Given the description of an element on the screen output the (x, y) to click on. 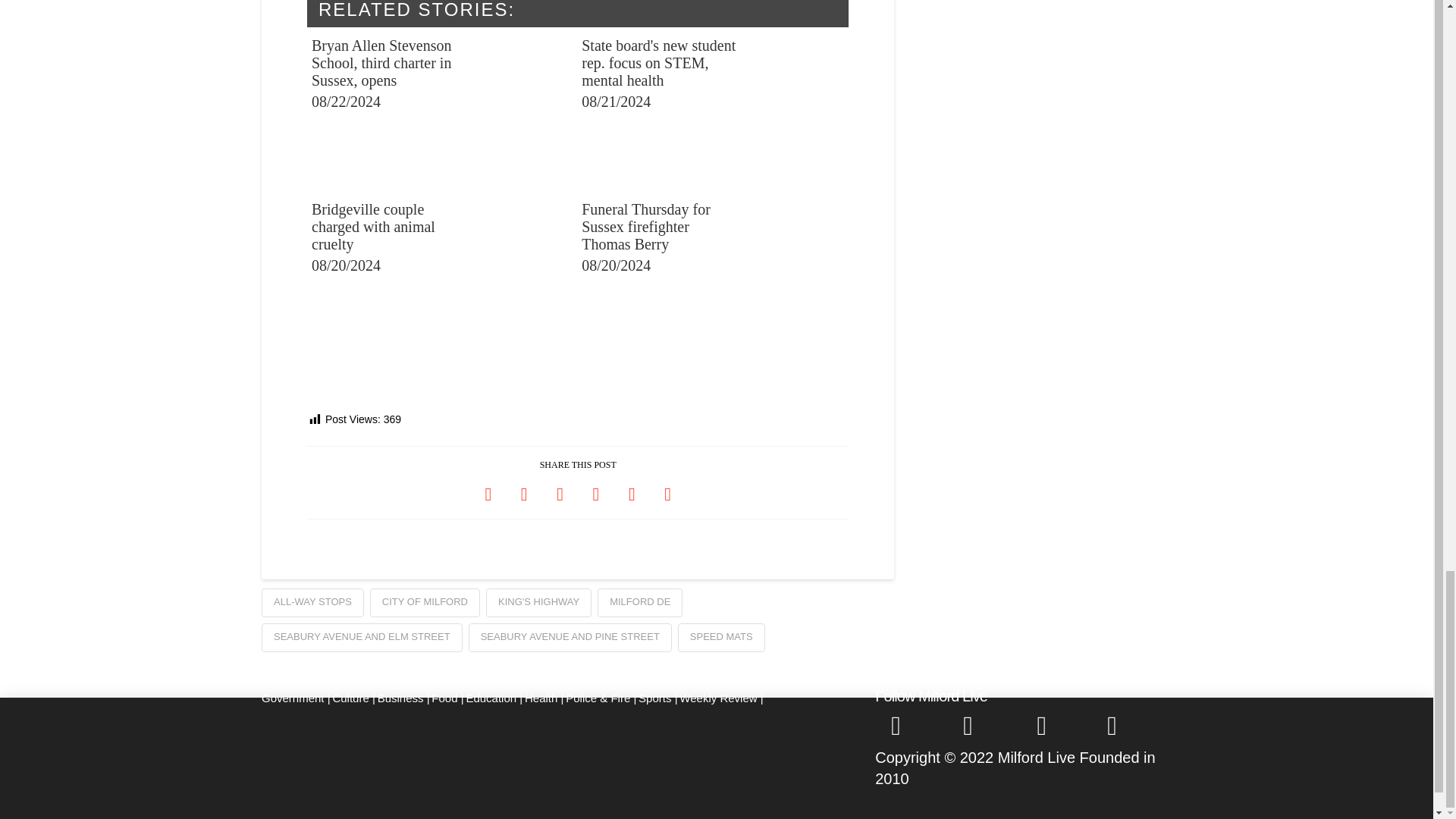
Share on Reddit (631, 493)
ALL-WAY STOPS (313, 602)
Share on Facebook (487, 493)
CITY OF MILFORD (424, 602)
Share via Email (667, 493)
MILFORD DE (639, 602)
Share on X (523, 493)
Share on Pinterest (595, 493)
KING'S HIGHWAY (538, 602)
Share on LinkedIn (559, 493)
